Given the description of an element on the screen output the (x, y) to click on. 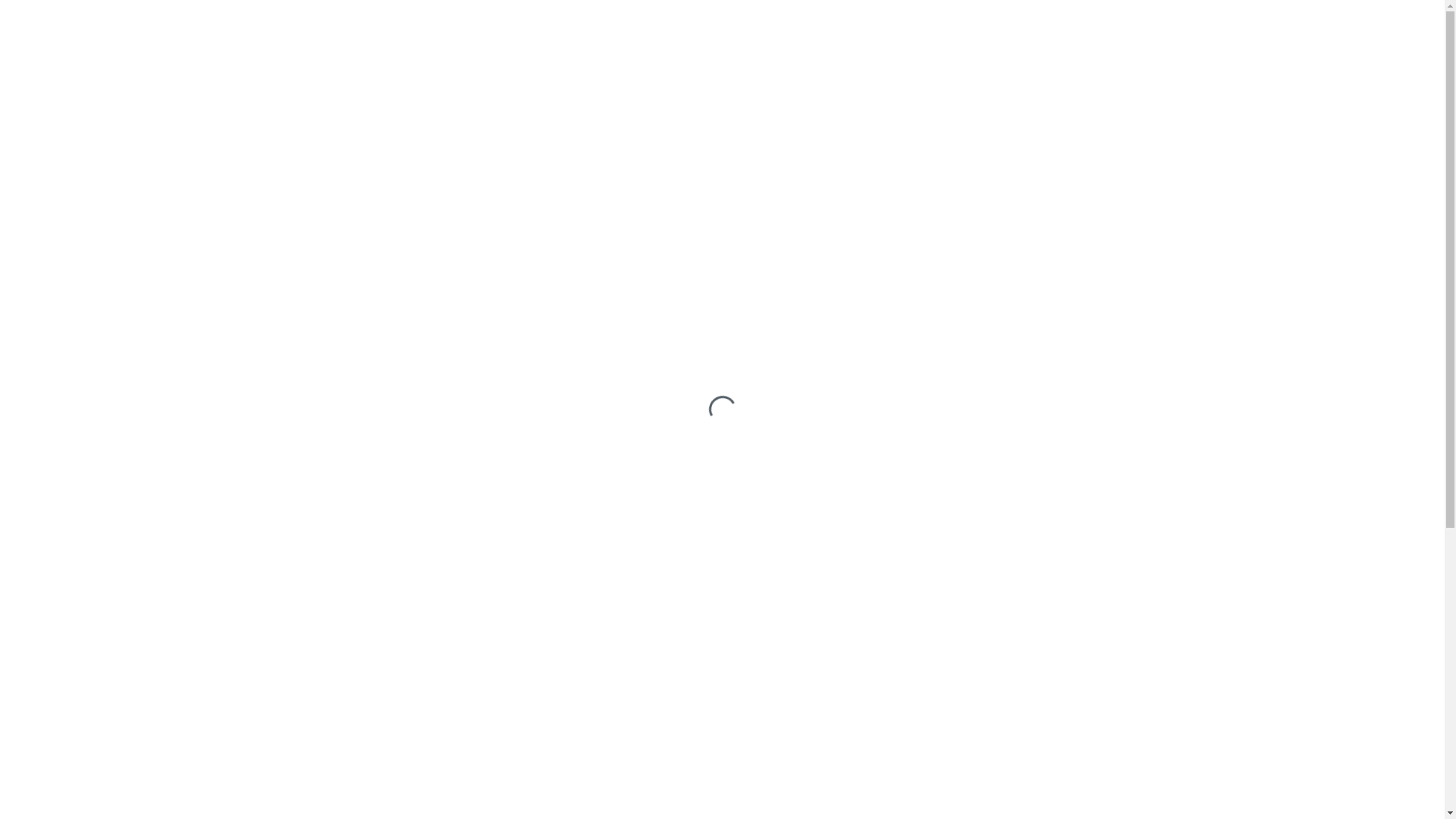
info@drozdy-club.by Element type: text (175, 692)
